Given the description of an element on the screen output the (x, y) to click on. 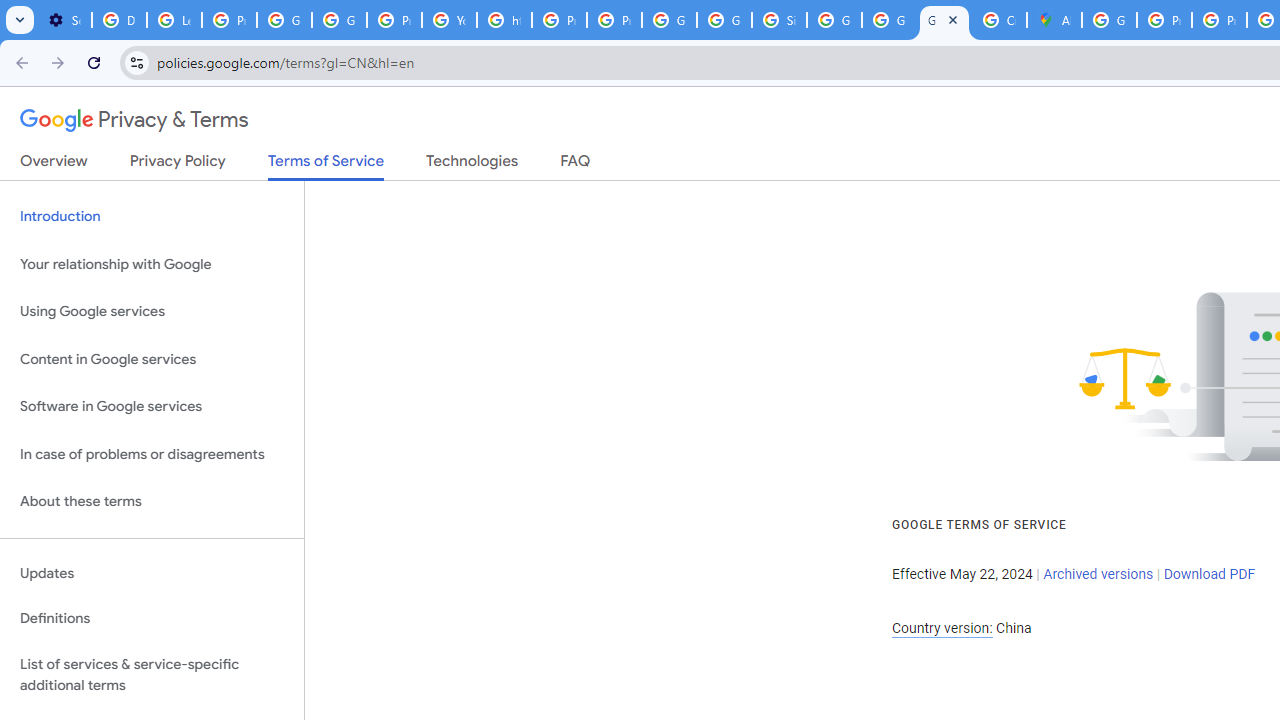
FAQ (575, 165)
Download PDF (1209, 574)
Introduction (152, 216)
Create your Google Account (998, 20)
Privacy Help Center - Policies Help (1163, 20)
Terms of Service (326, 166)
Content in Google services (152, 358)
Using Google services (152, 312)
Privacy Policy (177, 165)
Overview (54, 165)
